Given the description of an element on the screen output the (x, y) to click on. 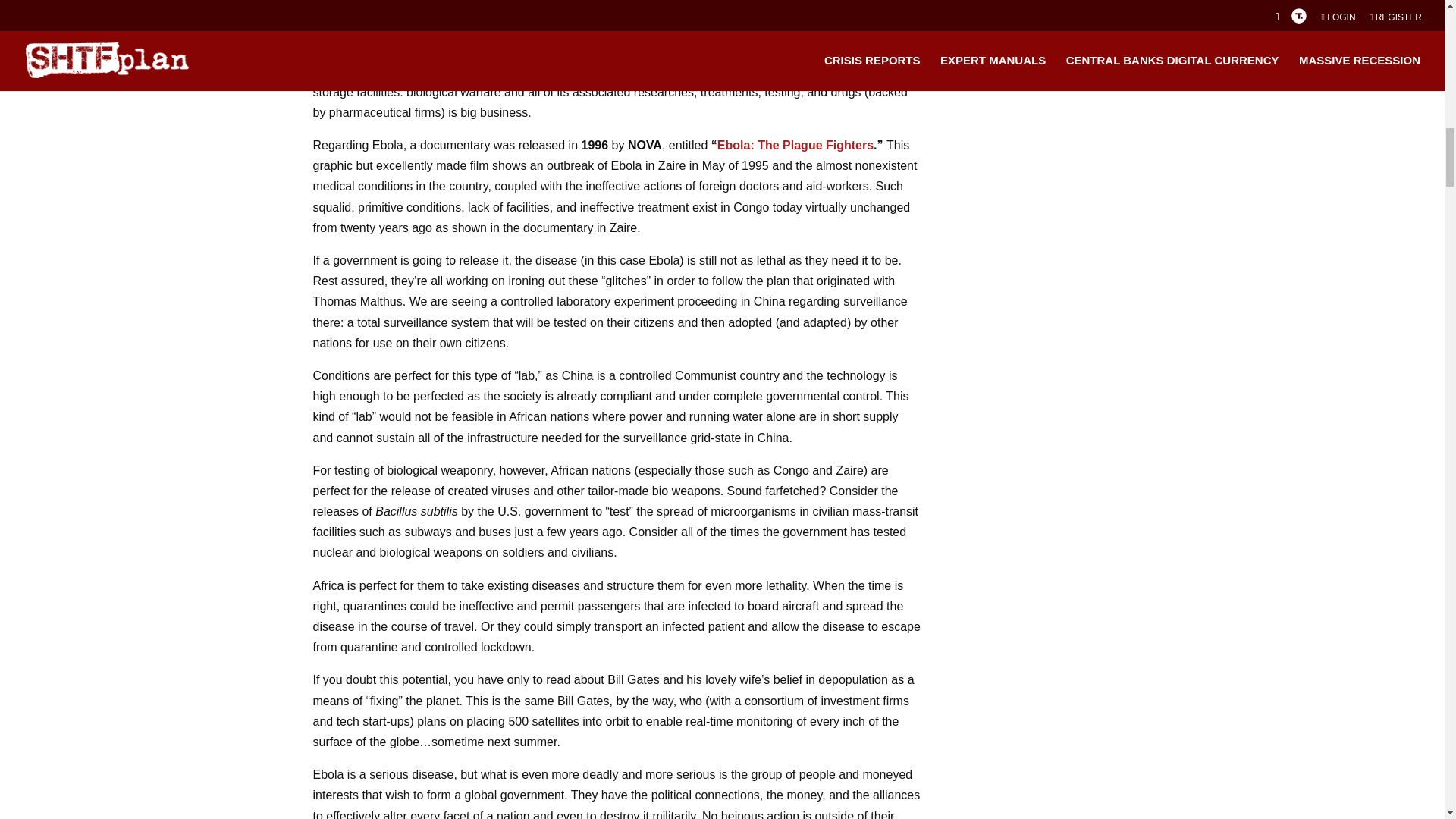
Ebola: The Plague Fighters (795, 144)
